Given the description of an element on the screen output the (x, y) to click on. 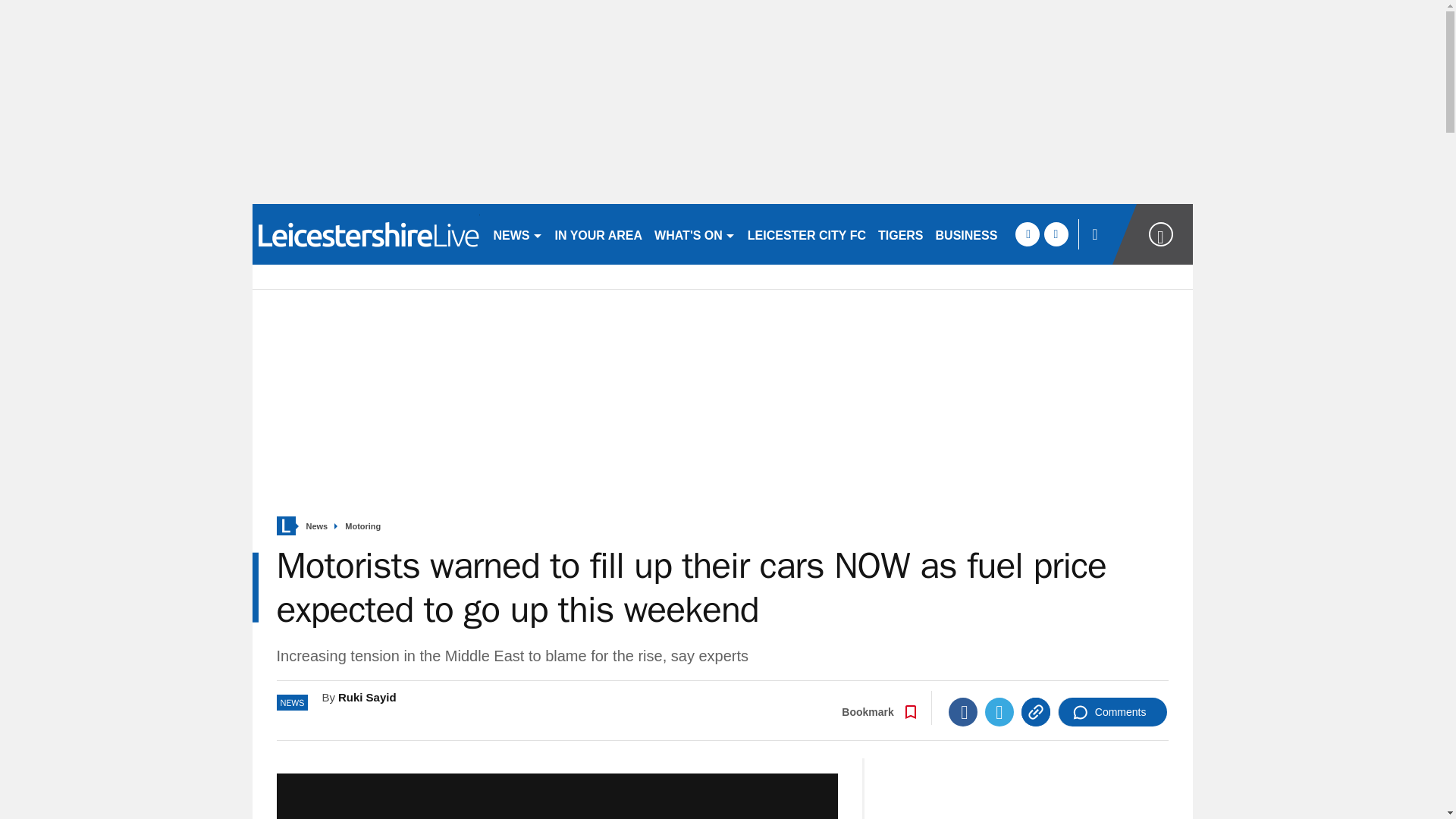
NEWS (517, 233)
BUSINESS (967, 233)
IN YOUR AREA (598, 233)
LEICESTER CITY FC (806, 233)
WHAT'S ON (694, 233)
leicestermercury (365, 233)
Facebook (962, 711)
Twitter (999, 711)
twitter (1055, 233)
facebook (1026, 233)
TIGERS (901, 233)
Comments (1112, 711)
